Given the description of an element on the screen output the (x, y) to click on. 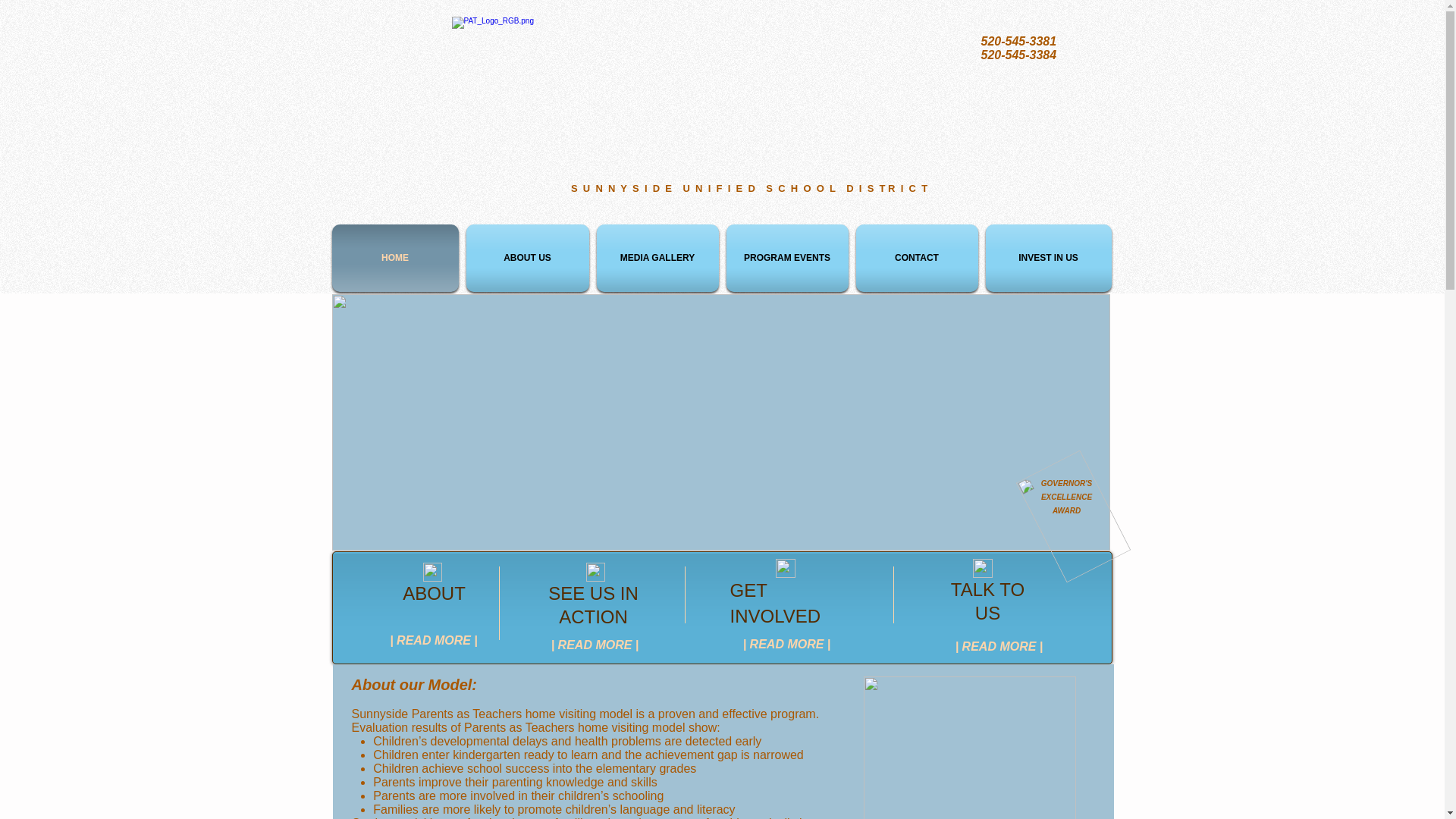
INVEST IN US (1045, 257)
HOME (397, 257)
CONTACT (916, 257)
ABOUT US (527, 257)
MEDIA GALLERY (657, 257)
PROGRAM EVENTS (786, 257)
